Given the description of an element on the screen output the (x, y) to click on. 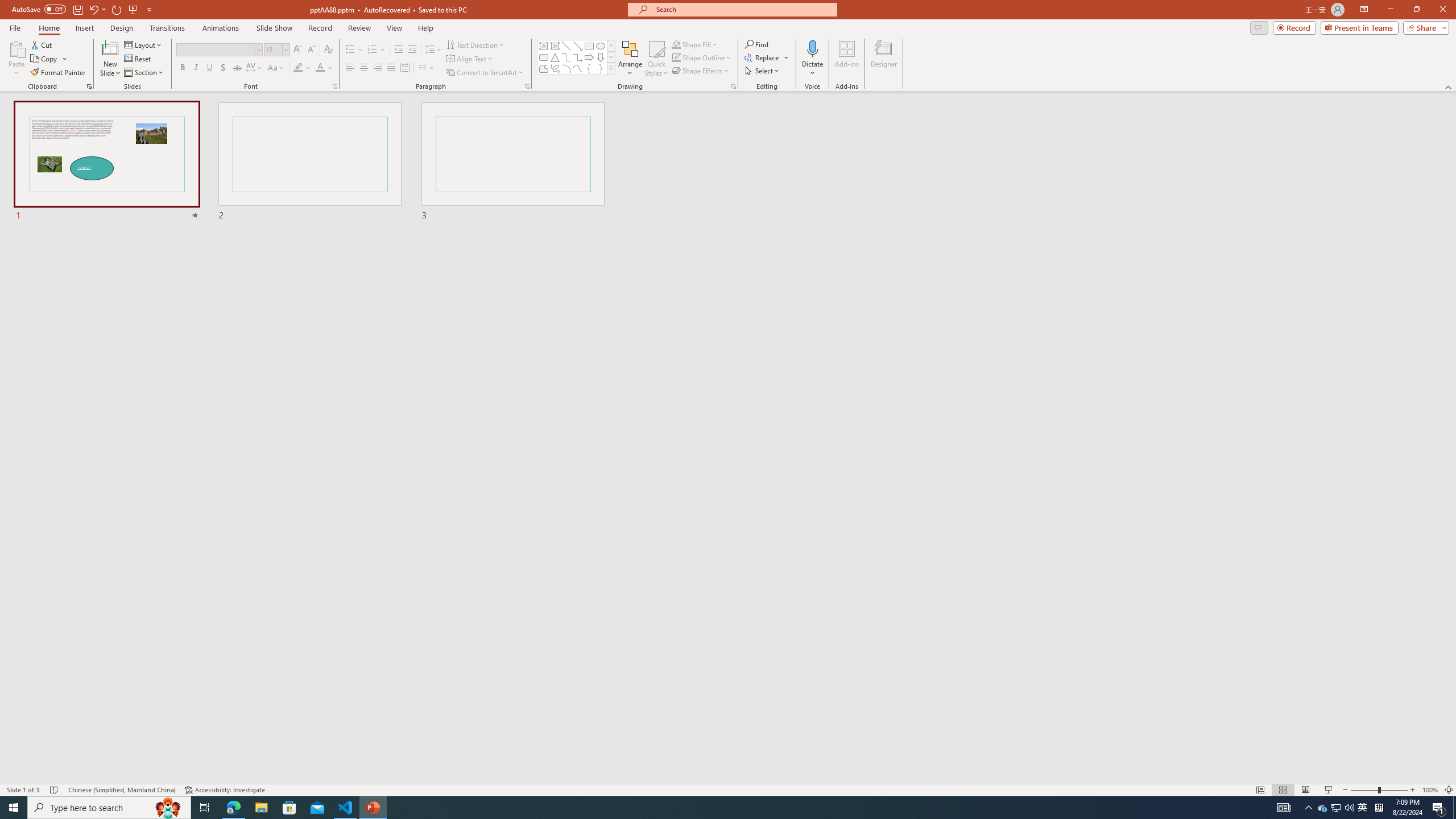
From Beginning (133, 9)
Record (320, 28)
Slide Show (1328, 790)
Clear Formatting (327, 49)
Character Spacing (254, 67)
Insert (83, 28)
Quick Styles (656, 58)
Arrow: Right (589, 57)
Accessibility Checker Accessibility: Investigate (224, 790)
Paste (16, 48)
Spell Check No Errors (54, 790)
Arrange (630, 58)
Transitions (167, 28)
Save (77, 9)
